Given the description of an element on the screen output the (x, y) to click on. 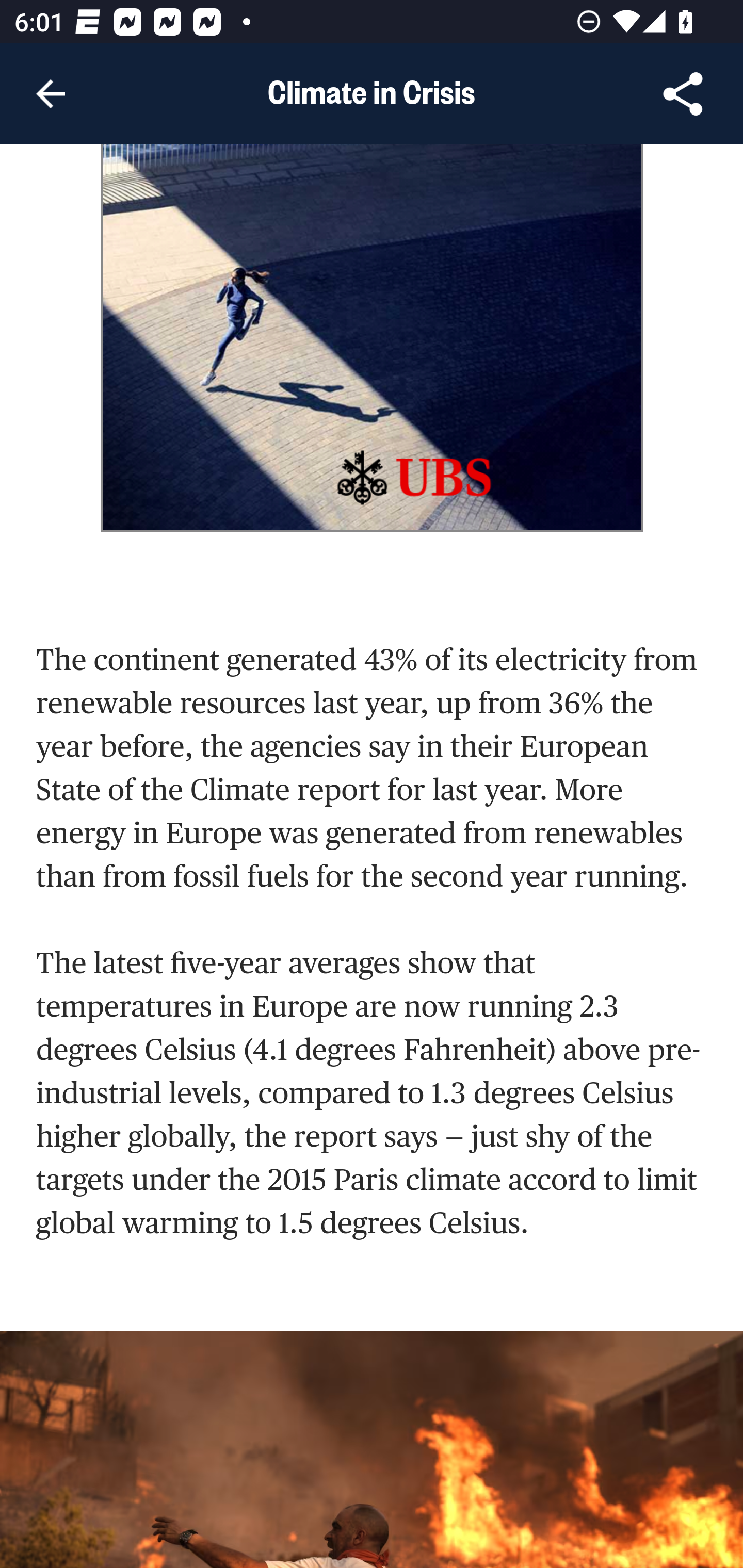
Navigate up (50, 93)
Share Article, button (683, 94)
